Given the description of an element on the screen output the (x, y) to click on. 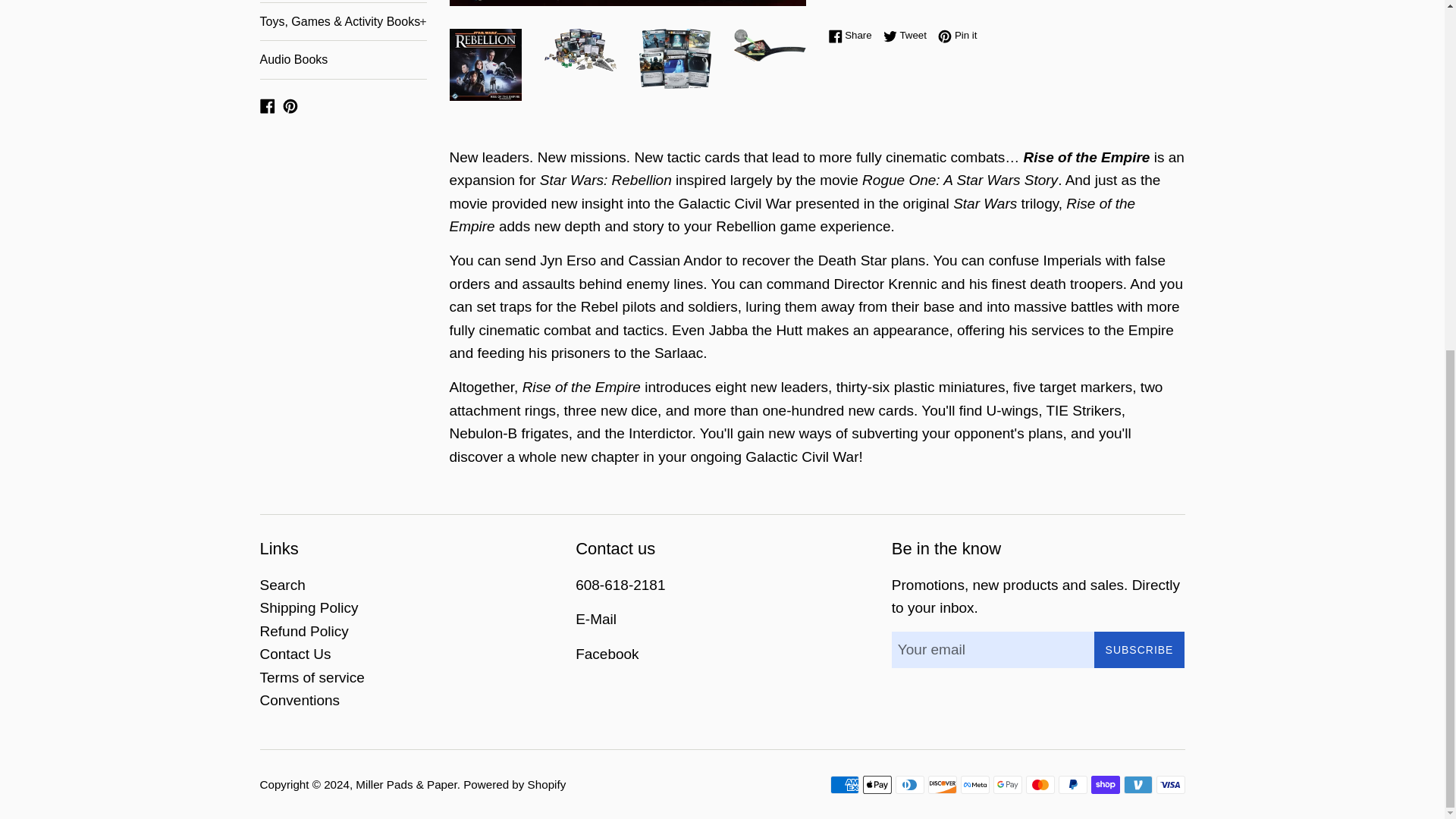
Pin on Pinterest (956, 35)
Apple Pay (877, 784)
Visa (1170, 784)
American Express (844, 784)
Shop Pay (1104, 784)
Tweet on Twitter (908, 35)
Diners Club (909, 784)
Mastercard (1039, 784)
PayPal (1072, 784)
Venmo (1138, 784)
Share on Facebook (853, 35)
Google Pay (1007, 784)
Discover (942, 784)
Meta Pay (973, 784)
